Given the description of an element on the screen output the (x, y) to click on. 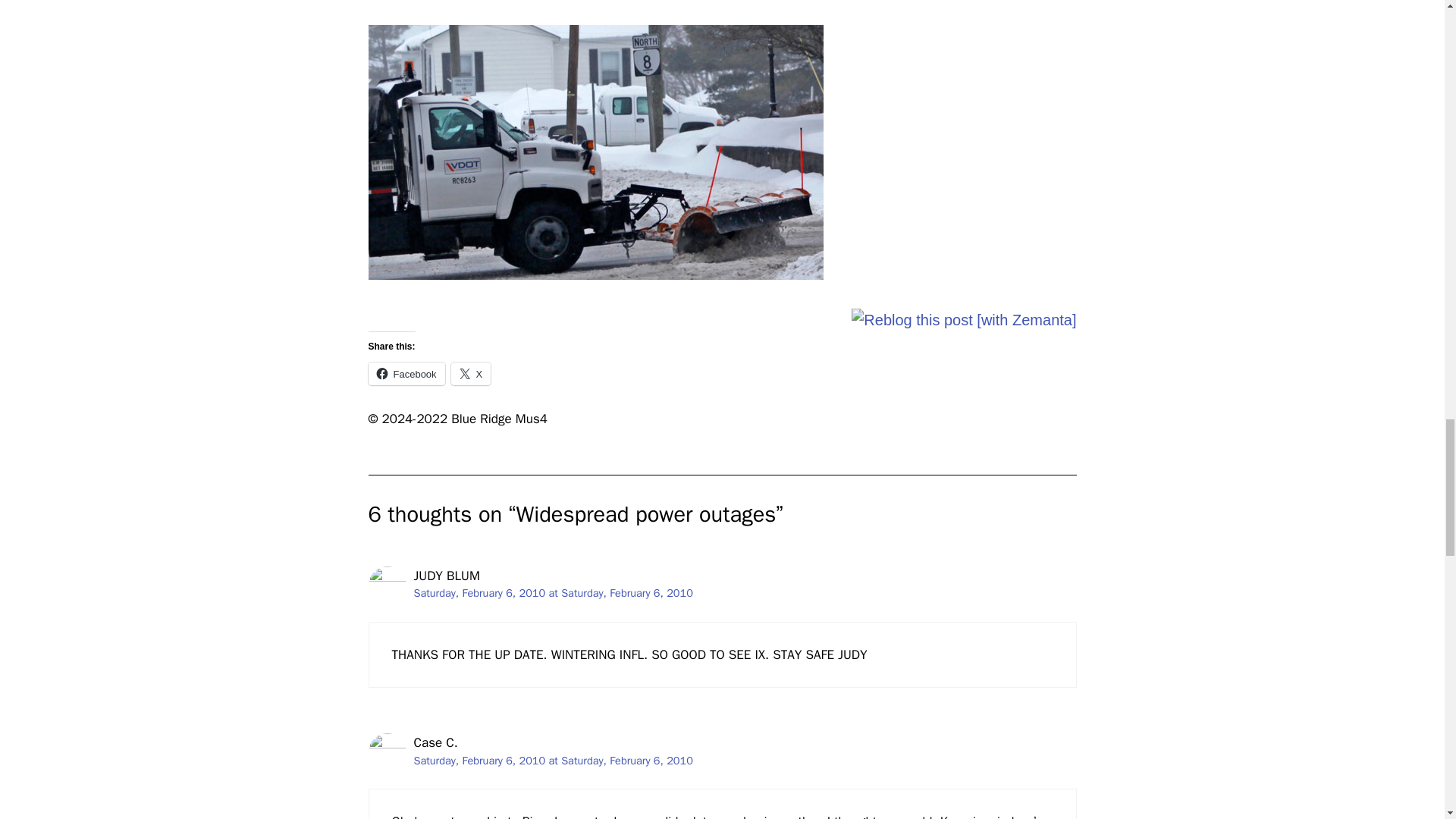
Saturday, February 6, 2010 at Saturday, February 6, 2010 (553, 592)
X (471, 373)
Saturday, February 6, 2010 at Saturday, February 6, 2010 (553, 760)
Click to share on Facebook (406, 373)
Click to share on X (471, 373)
Facebook (406, 373)
020610snow4 (596, 152)
